Given the description of an element on the screen output the (x, y) to click on. 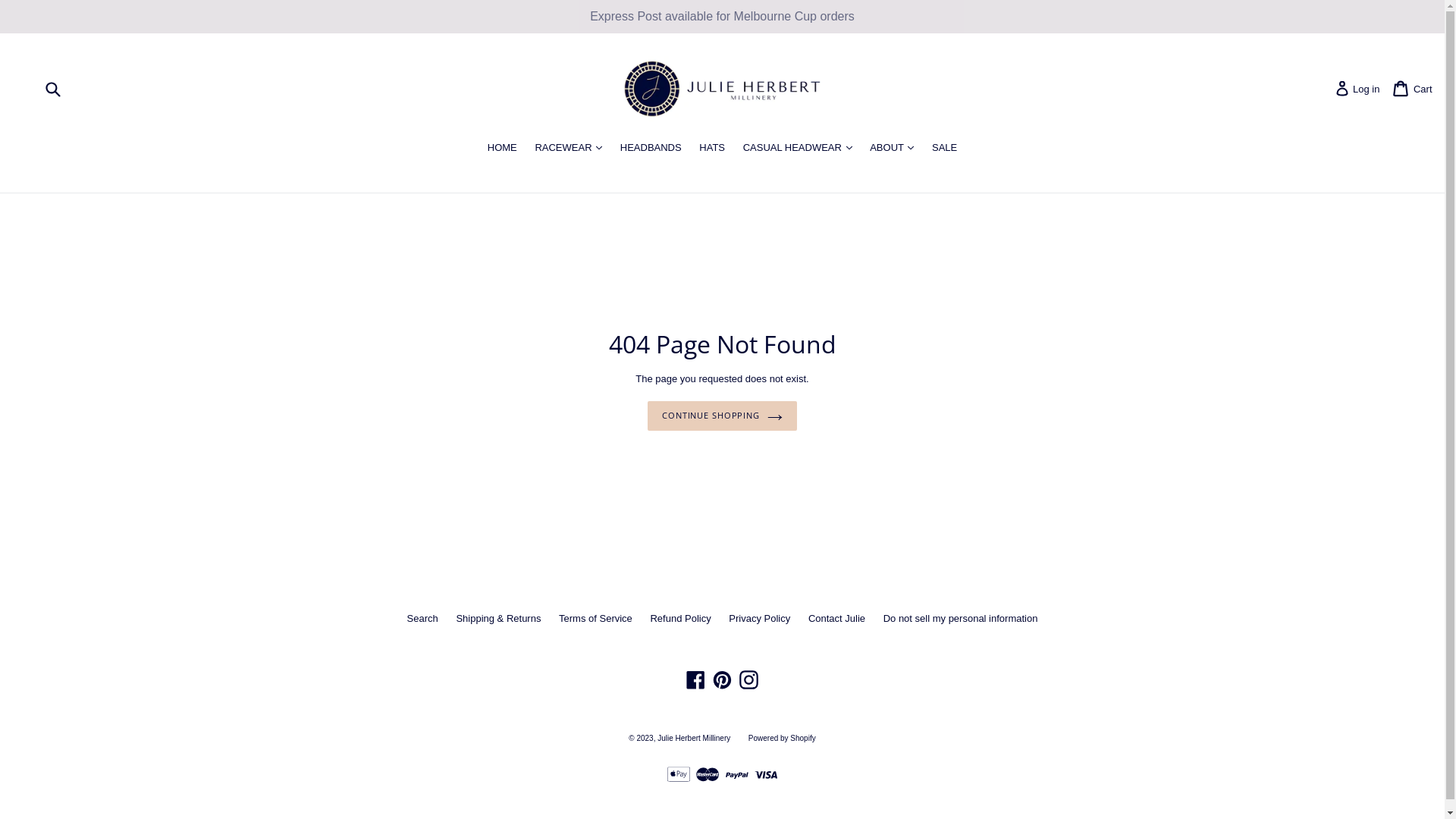
Log in Element type: text (1341, 89)
HOME Element type: text (502, 148)
Do not sell my personal information Element type: text (960, 618)
Privacy Policy Element type: text (759, 618)
CONTINUE SHOPPING Element type: text (722, 416)
Shipping & Returns Element type: text (497, 618)
SALE Element type: text (944, 148)
Powered by Shopify Element type: text (781, 738)
Refund Policy Element type: text (679, 618)
Pinterest Element type: text (722, 679)
Facebook Element type: text (695, 679)
Terms of Service Element type: text (595, 618)
Cart
Cart Element type: text (1401, 88)
Contact Julie Element type: text (836, 618)
Julie Herbert Millinery Element type: text (693, 738)
Instagram Element type: text (748, 679)
HEADBANDS Element type: text (650, 148)
HATS Element type: text (711, 148)
Express Post available for Melbourne Cup orders Element type: text (722, 16)
Search Element type: text (422, 618)
Submit Element type: text (51, 88)
